Given the description of an element on the screen output the (x, y) to click on. 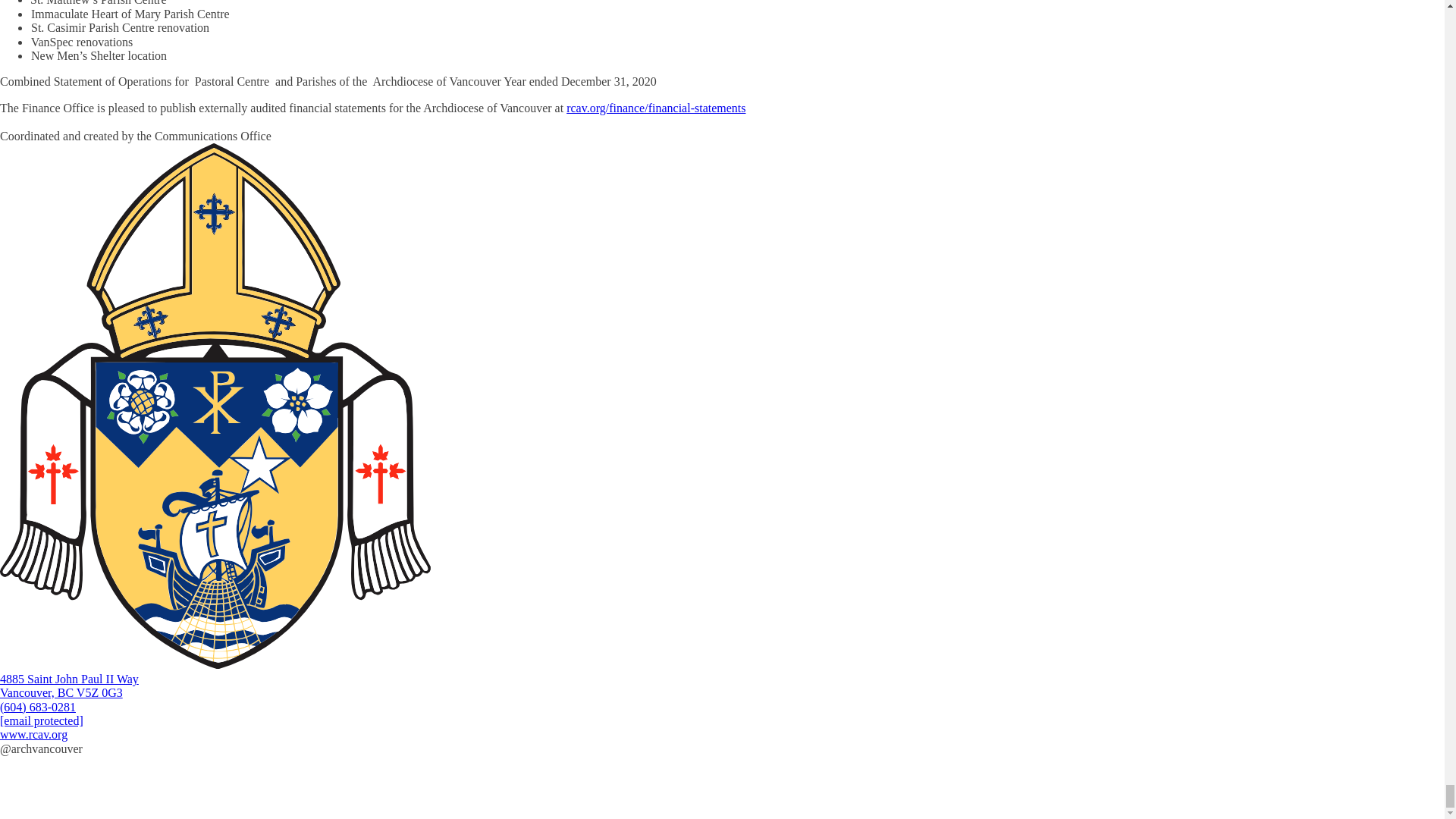
www.rcav.org (33, 734)
